Given the description of an element on the screen output the (x, y) to click on. 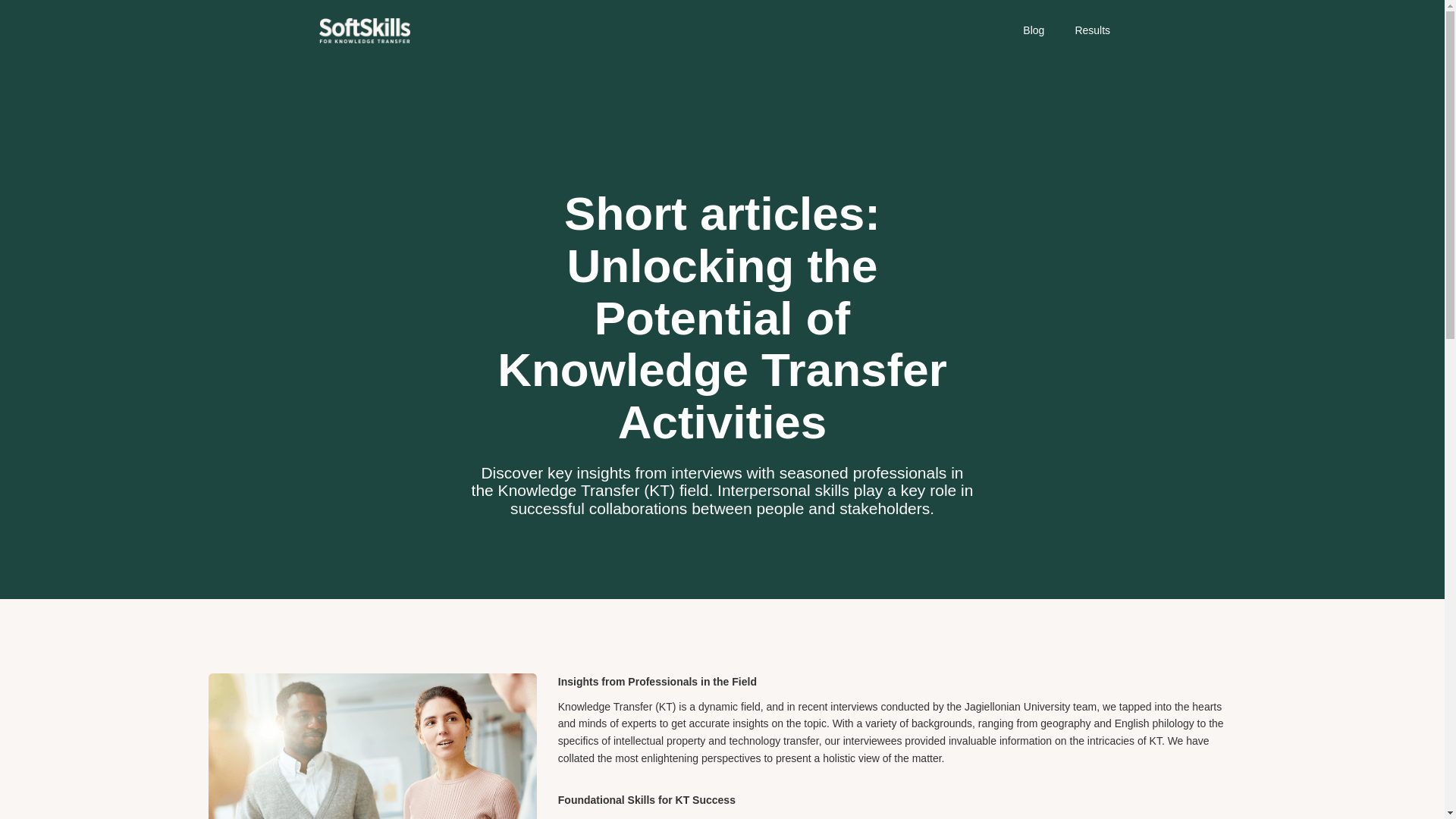
Blog (1033, 30)
Results (1092, 30)
